Given the description of an element on the screen output the (x, y) to click on. 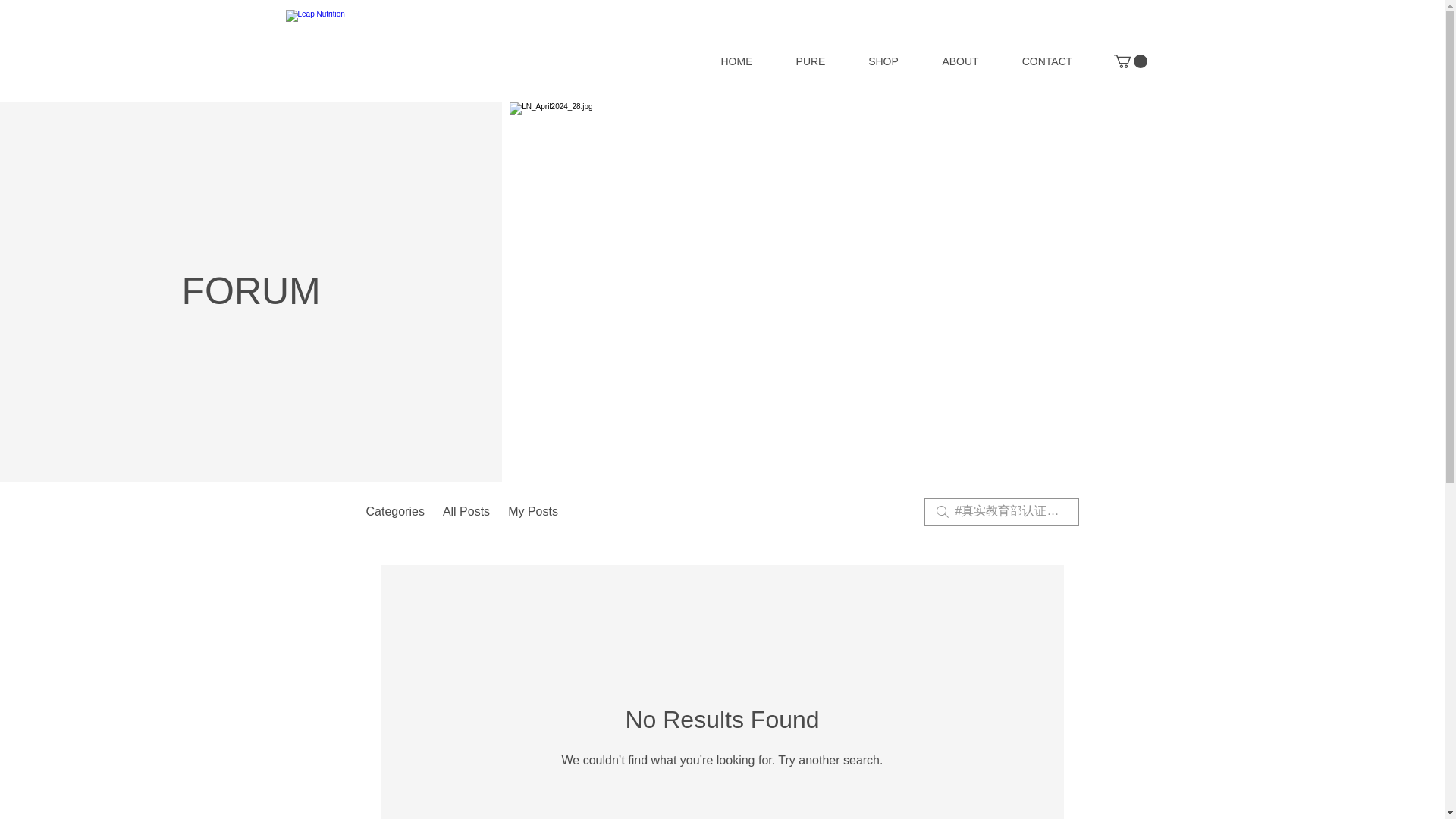
My Posts (532, 511)
PURE (810, 61)
CONTACT (1047, 61)
All Posts (465, 511)
Categories (394, 511)
HOME (736, 61)
ABOUT (960, 61)
SHOP (882, 61)
